Given the description of an element on the screen output the (x, y) to click on. 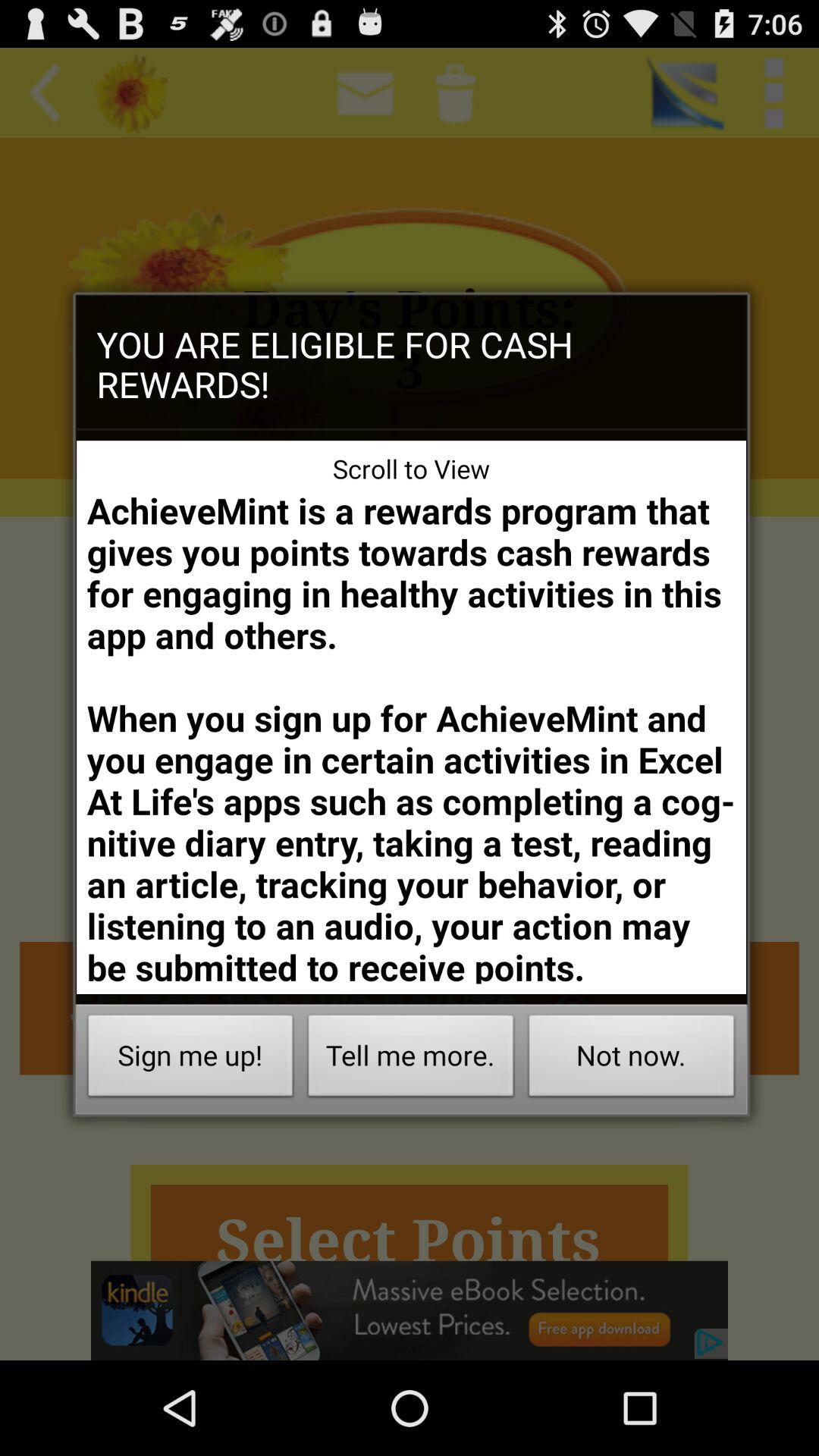
select the not now. button (631, 1059)
